Given the description of an element on the screen output the (x, y) to click on. 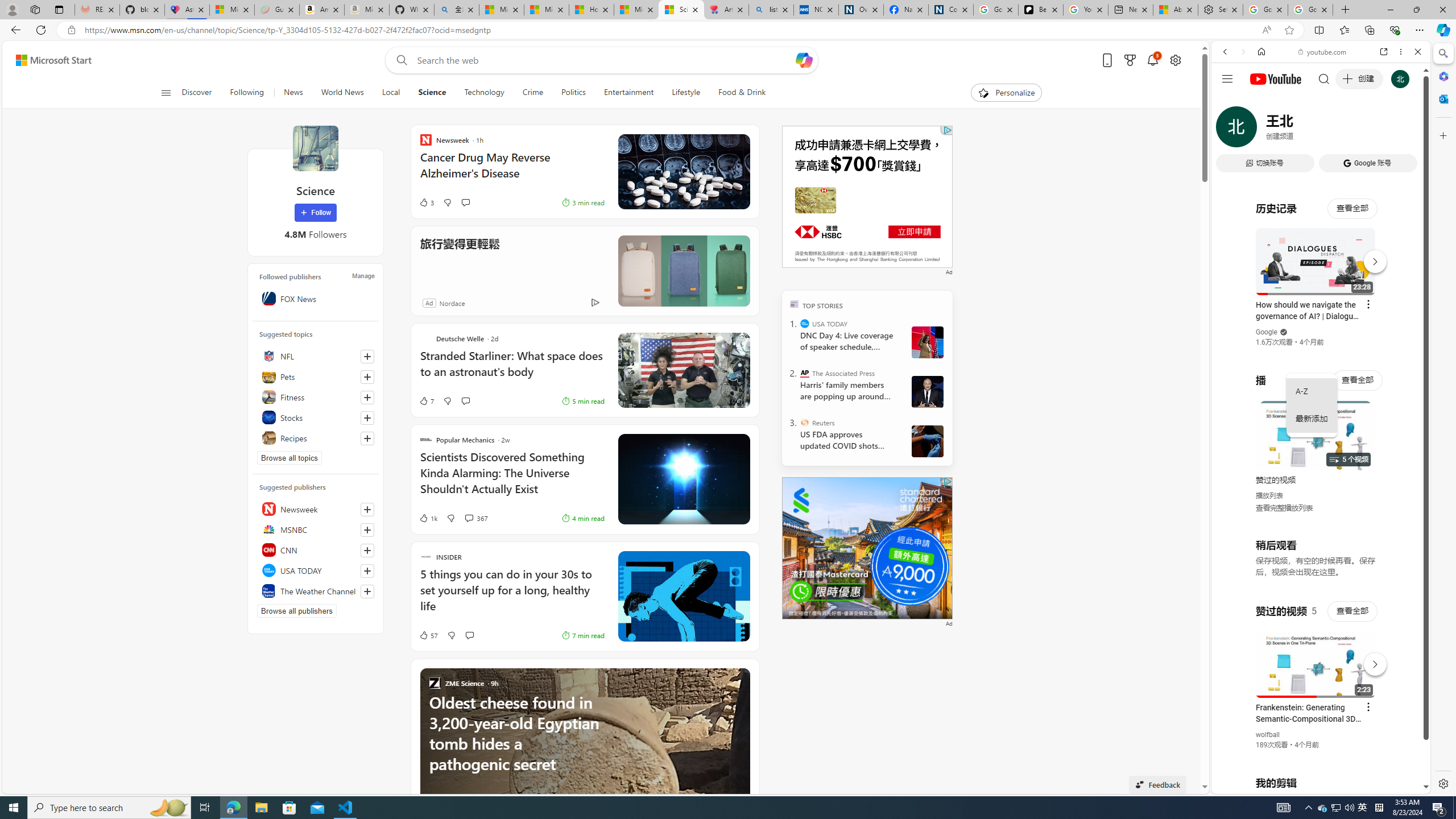
Asthma Inhalers: Names and Types (187, 9)
Cancer Drug May Reverse Alzheimer's Disease (511, 171)
Trailer #2 [HD] (1320, 337)
Search Filter, VIDEOS (1300, 129)
#you (1315, 659)
